Given the description of an element on the screen output the (x, y) to click on. 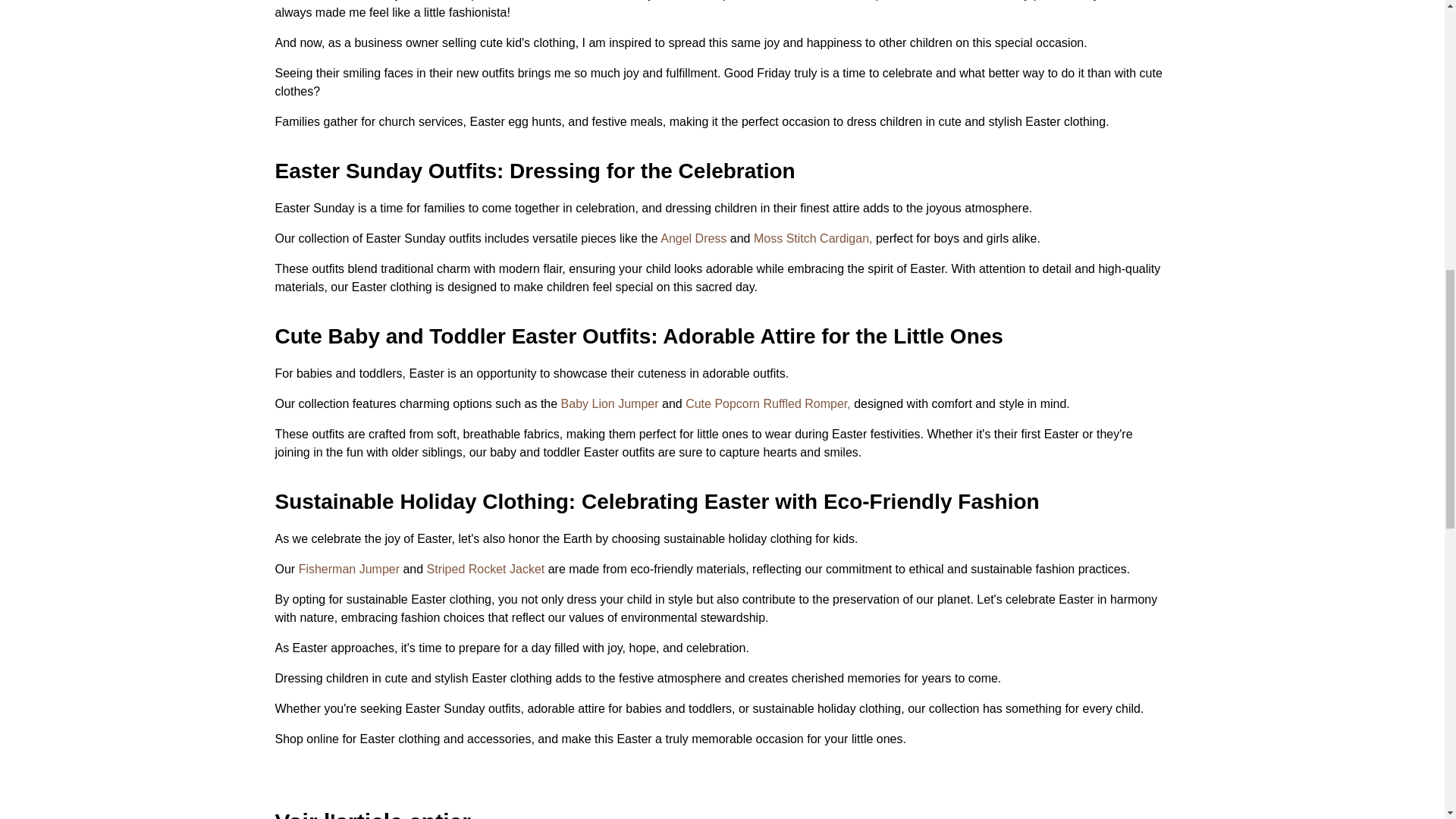
Cute Kid's Jumpers (485, 568)
Cute Girl's Cardigans (813, 237)
Cute Girl's Dresses (693, 237)
Cute Fisherman Jumper (348, 568)
Cute Baby Romper (767, 403)
Cute Kid's Jumpers (609, 403)
